Given the description of an element on the screen output the (x, y) to click on. 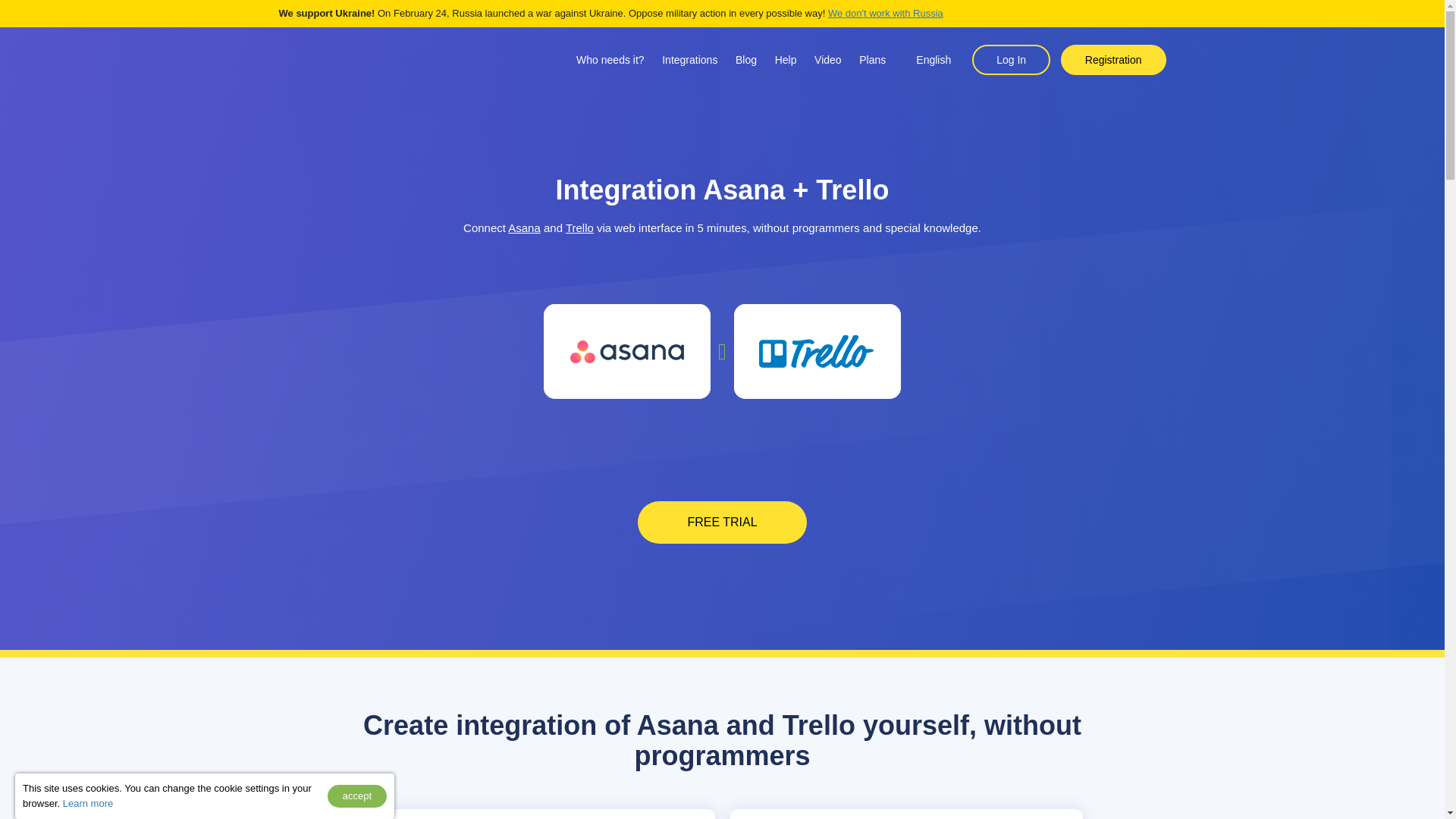
Log in to account (1010, 60)
Get started now (721, 522)
Trello (580, 227)
Registration (1113, 60)
Who needs it? (610, 60)
FREE TRIAL (721, 522)
Help (785, 60)
Video (827, 60)
Help (785, 60)
Video (827, 60)
